Given the description of an element on the screen output the (x, y) to click on. 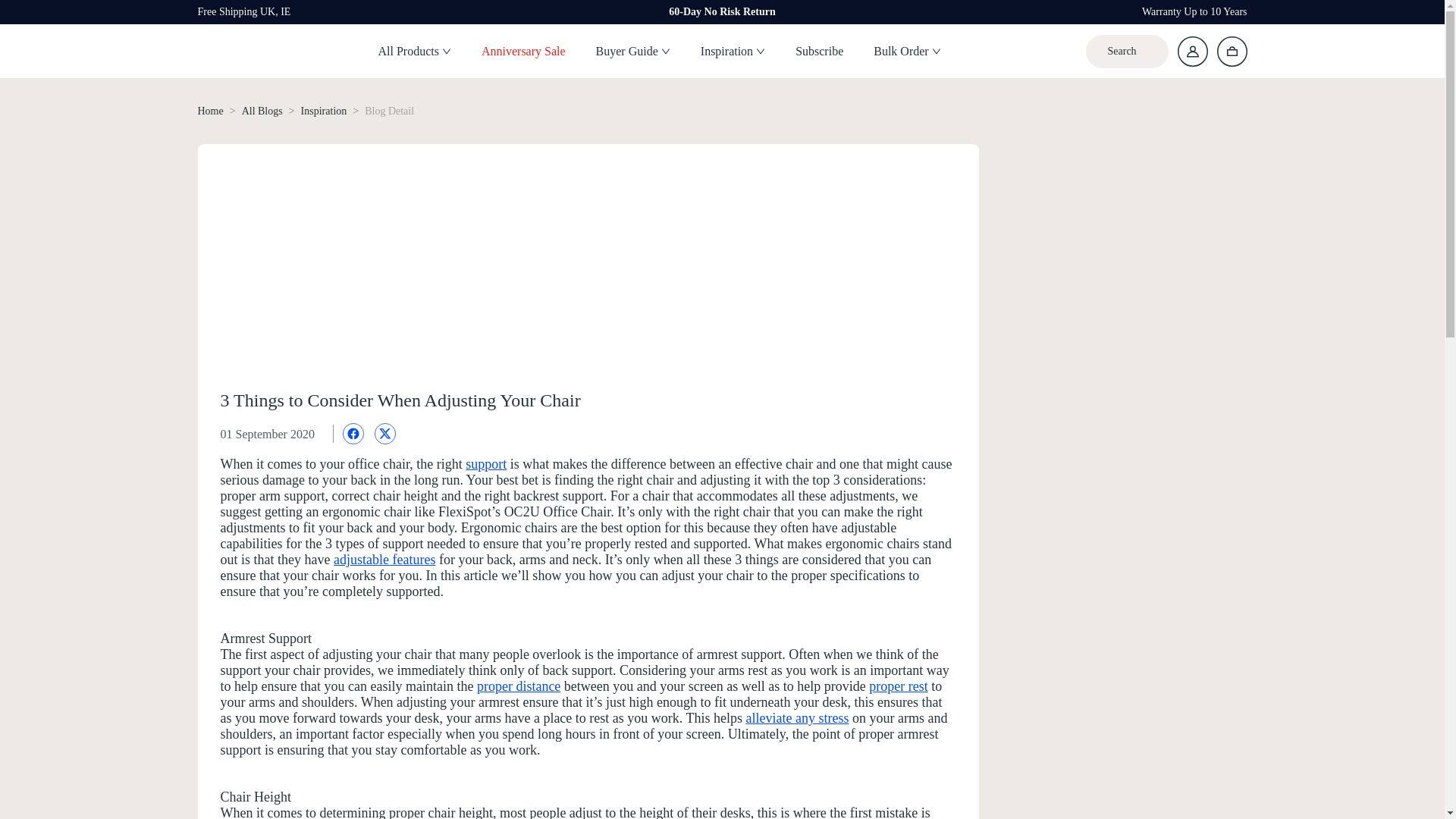
Bulk Order (906, 51)
Subscribe (818, 51)
Inspiration (324, 111)
proper distance (518, 685)
Home (209, 111)
support (485, 463)
alleviate any stress (796, 717)
adjustable features (384, 559)
Anniversary Sale (523, 51)
proper rest (898, 685)
All Blogs (261, 111)
